Given the description of an element on the screen output the (x, y) to click on. 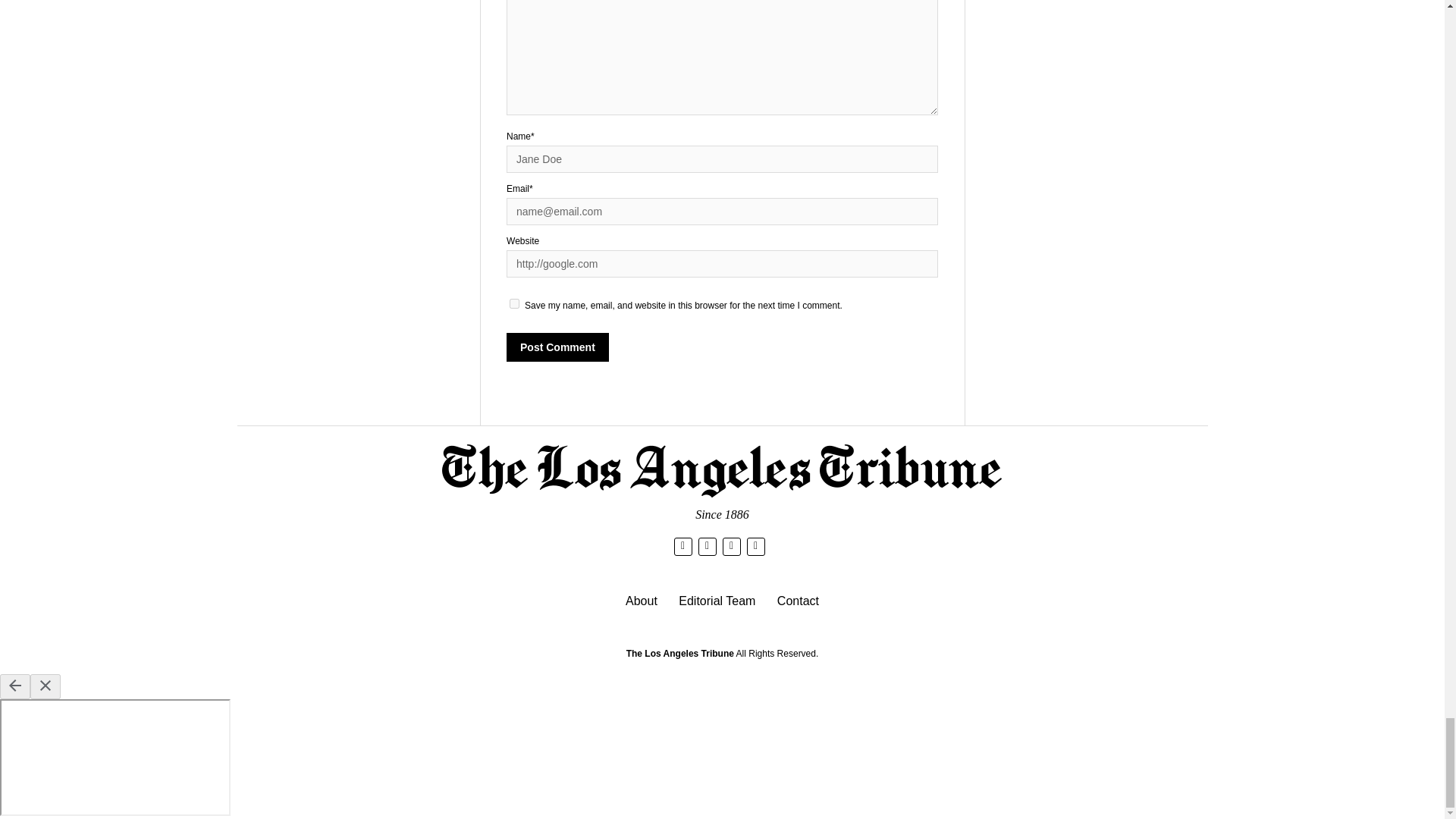
Post Comment (557, 346)
yes (514, 303)
